Given the description of an element on the screen output the (x, y) to click on. 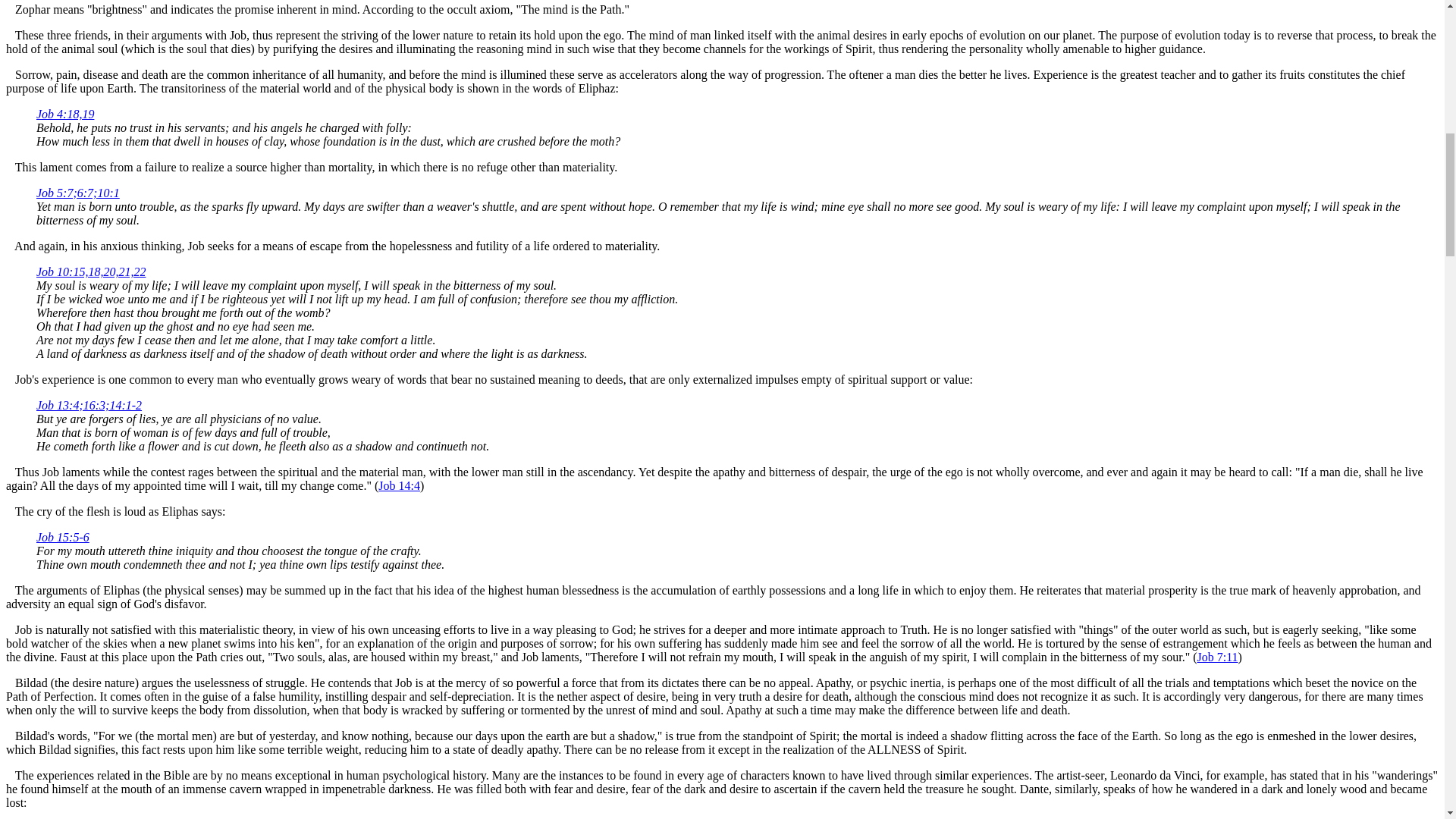
Job 5:7;6:7;10:1 (77, 192)
Job 14:4 (399, 485)
Job 10:15,18,20,21,22 (90, 271)
Job 7:11 (1216, 656)
Job 4:18,19 (65, 113)
Job 13:4;16:3;14:1-2 (88, 404)
Job 15:5-6 (62, 536)
